Given the description of an element on the screen output the (x, y) to click on. 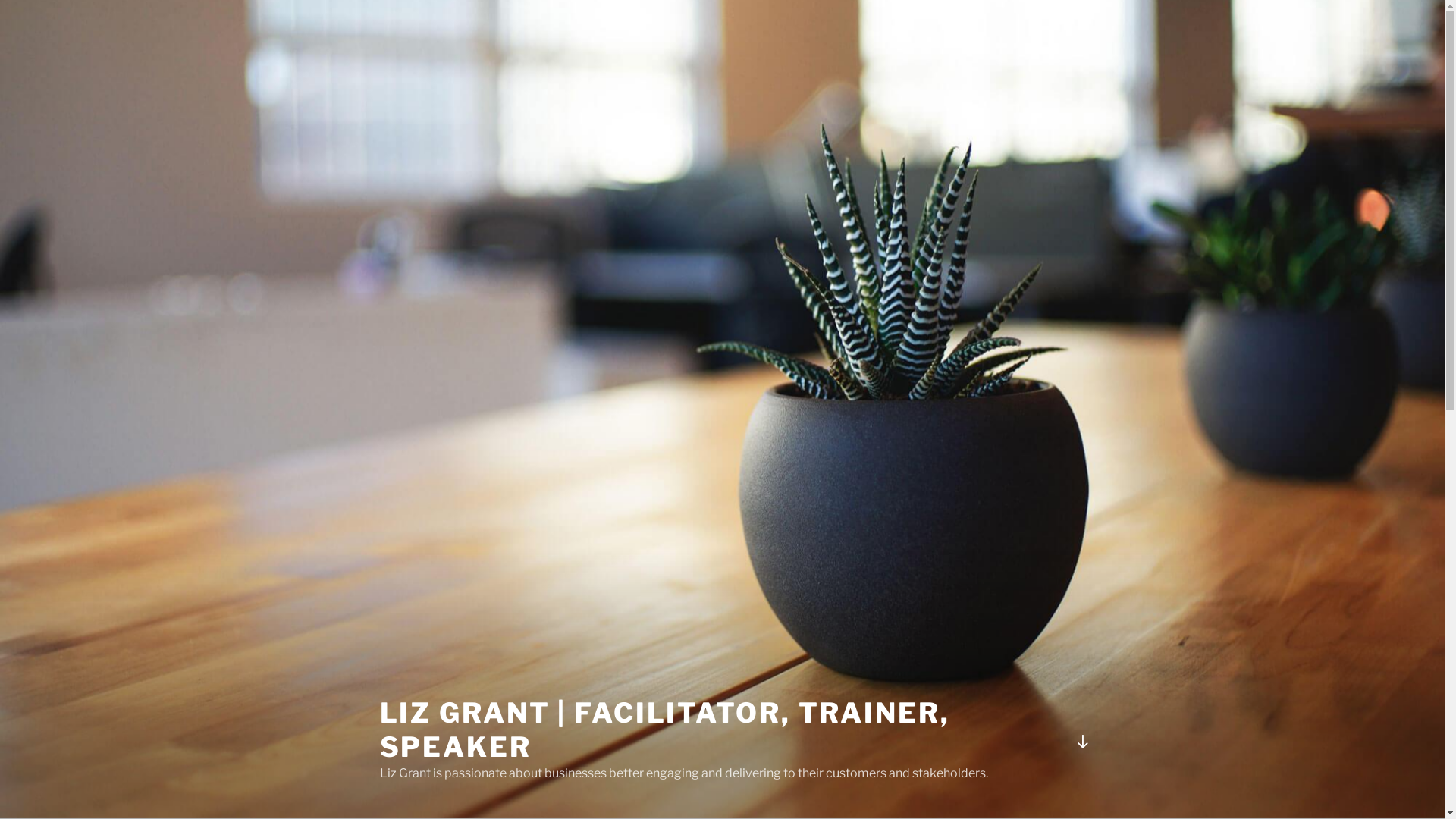
Scroll down to content Element type: text (1082, 741)
LIZ GRANT | FACILITATOR, TRAINER, SPEAKER Element type: text (664, 729)
